Given the description of an element on the screen output the (x, y) to click on. 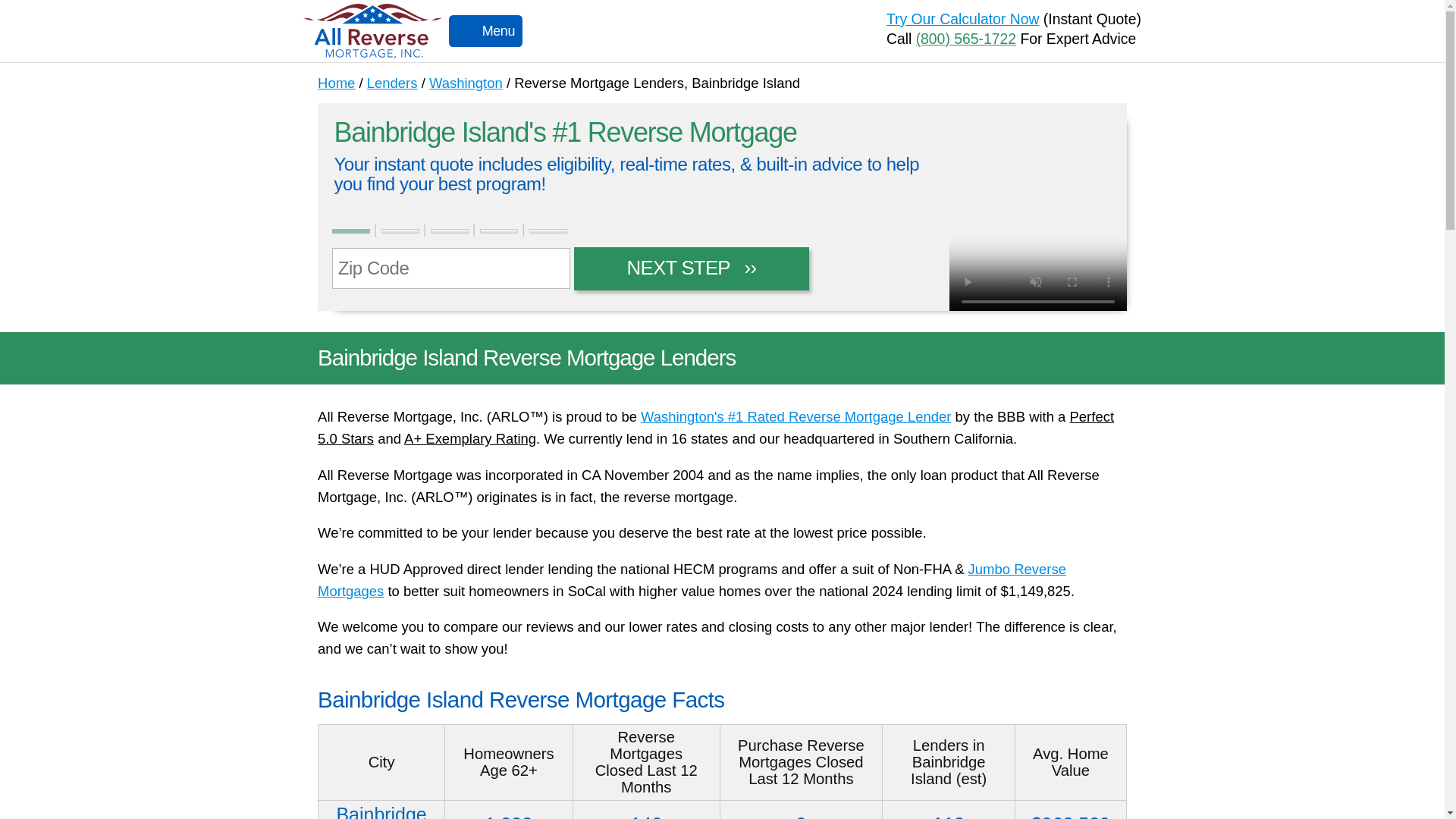
Try Our Calculator Now (962, 18)
Home (336, 82)
Washington (465, 82)
Lenders (391, 82)
